Given the description of an element on the screen output the (x, y) to click on. 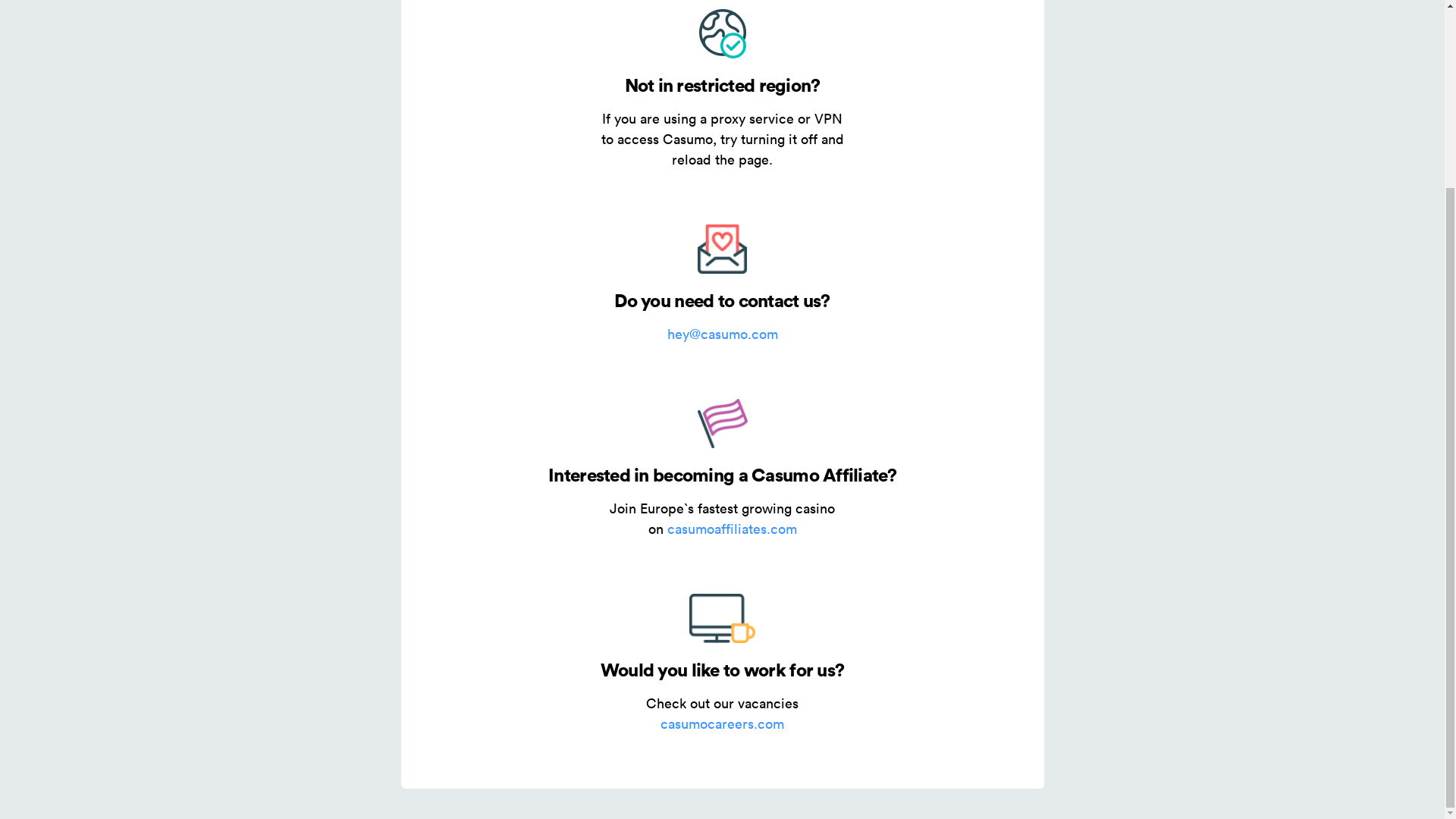
casumocareers.com (722, 723)
casumoaffiliates.com (731, 528)
